Given the description of an element on the screen output the (x, y) to click on. 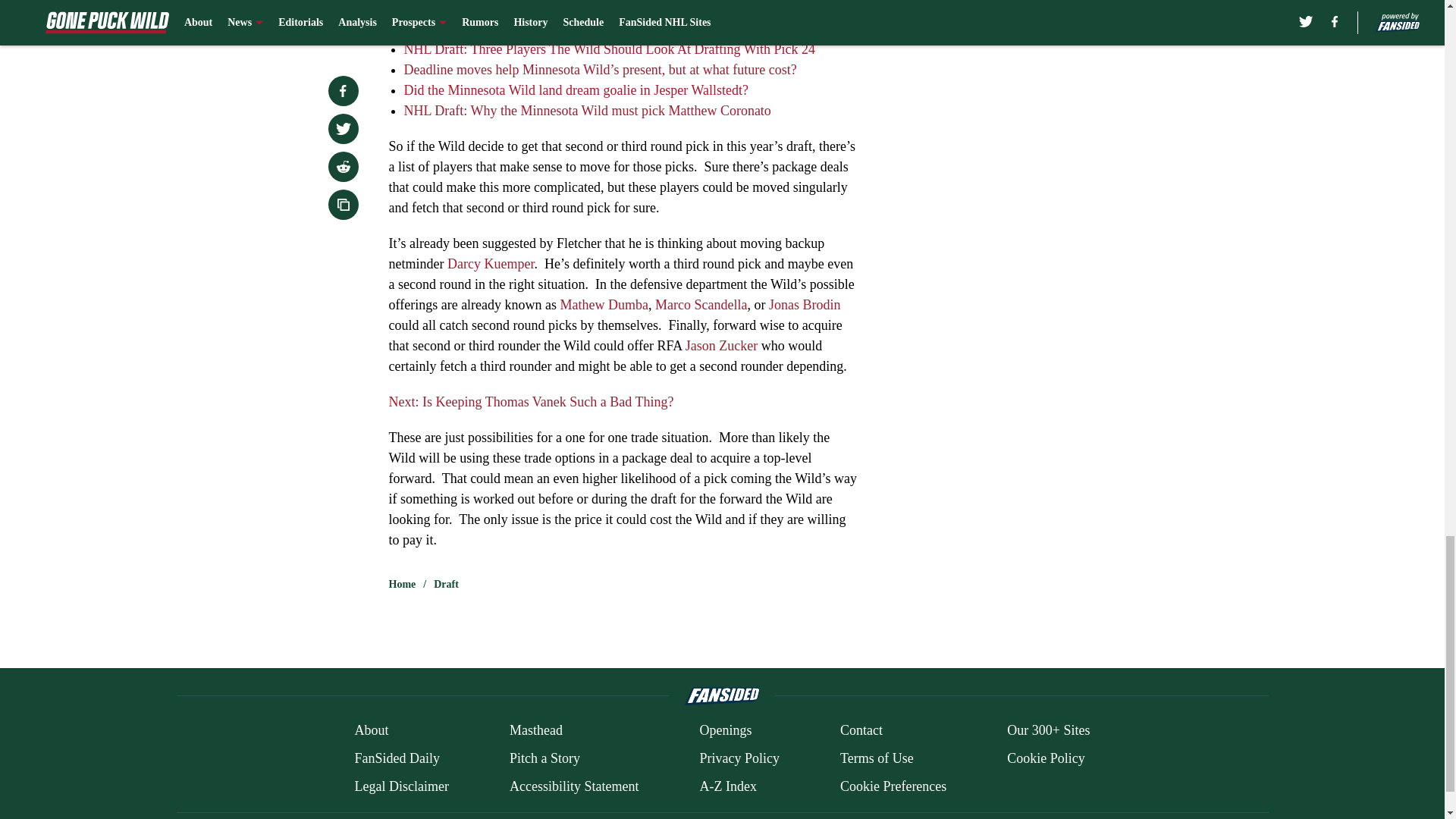
About (370, 730)
Darcy Kuemper (490, 263)
Draft (445, 584)
Next: Is Keeping Thomas Vanek Such a Bad Thing? (530, 401)
NHL Draft: Why the Minnesota Wild must pick Matthew Coronato (586, 110)
Jason Zucker (721, 345)
Minnesota Wild: NHL 2022 Draft Preview (520, 28)
Home (401, 584)
Marco Scandella (700, 304)
Mathew Dumba (603, 304)
Jonas Brodin (804, 304)
